Given the description of an element on the screen output the (x, y) to click on. 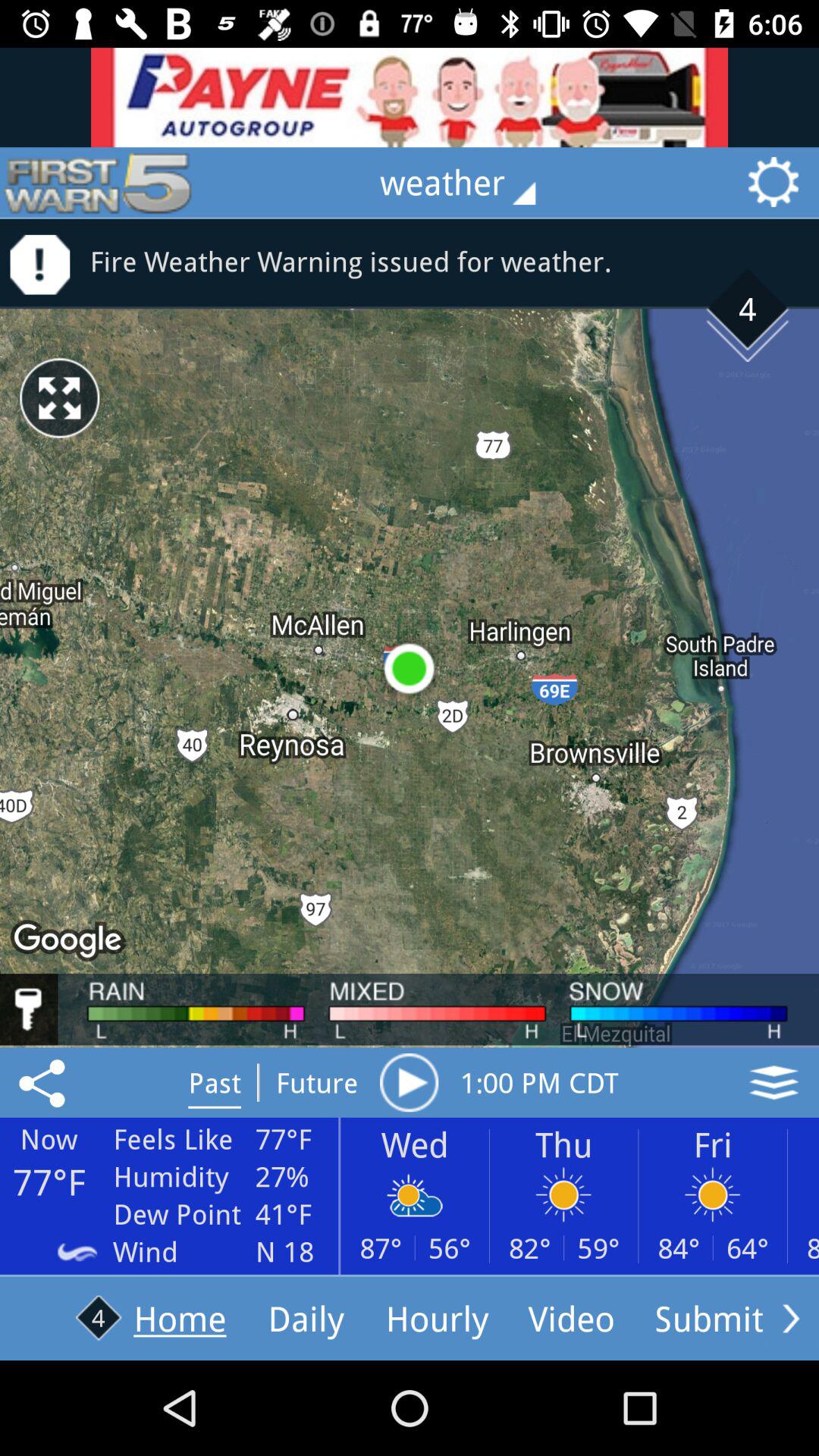
share location (44, 1082)
